Given the description of an element on the screen output the (x, y) to click on. 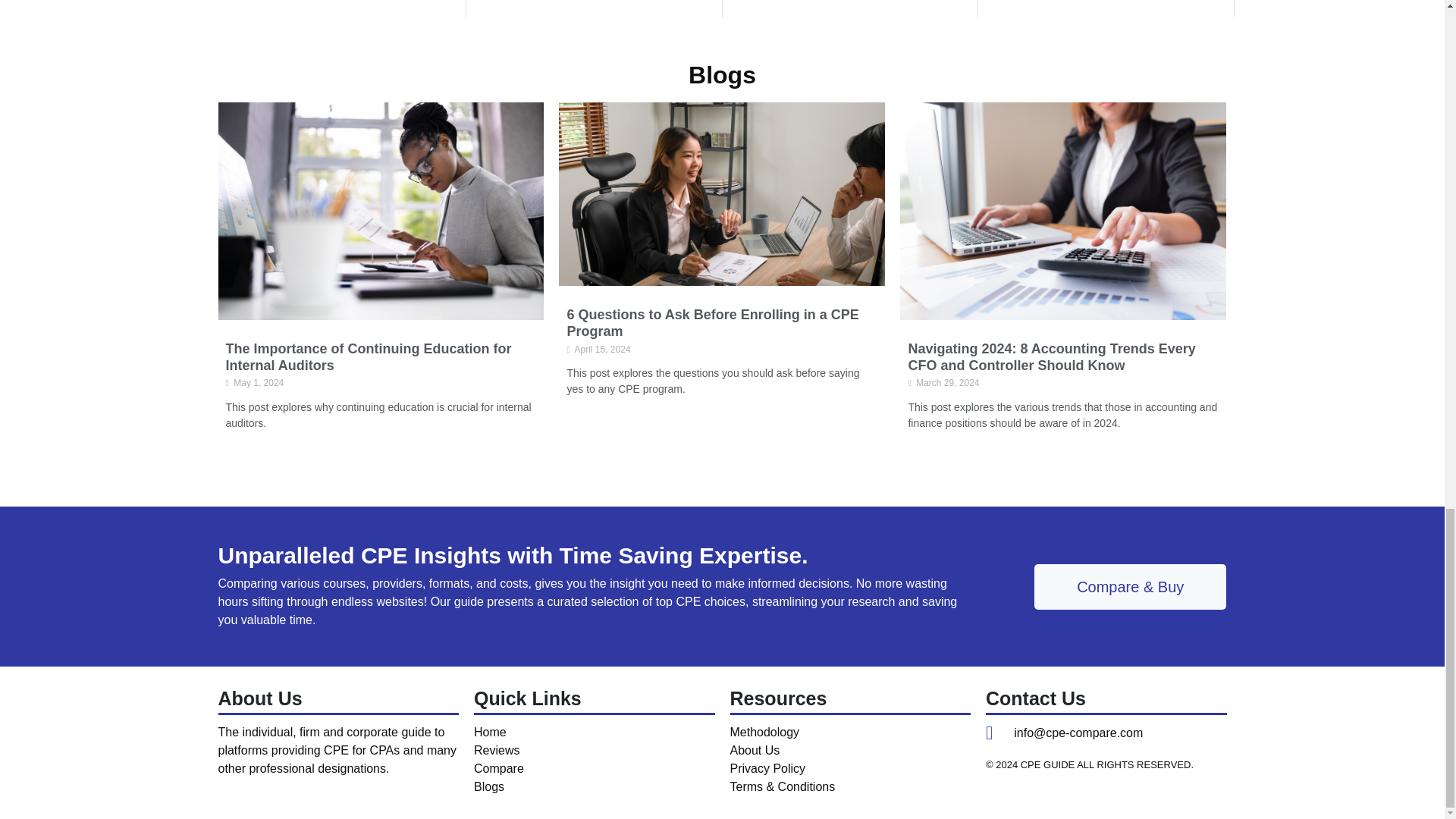
The Importance of Continuing Education for Internal Auditors (368, 357)
